Given the description of an element on the screen output the (x, y) to click on. 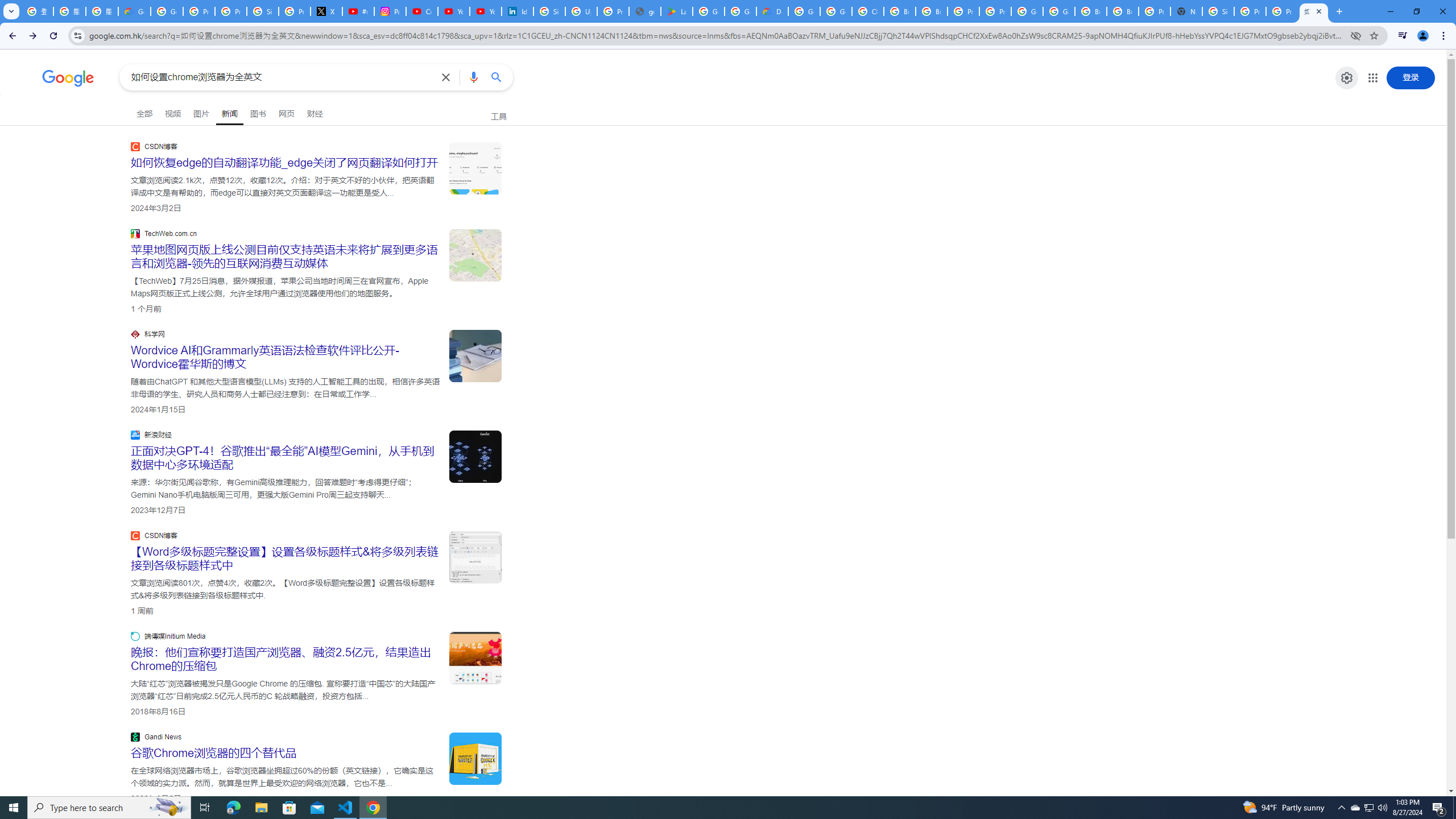
Sign in - Google Accounts (262, 11)
Privacy Help Center - Policies Help (230, 11)
Last Shelter: Survival - Apps on Google Play (676, 11)
